Given the description of an element on the screen output the (x, y) to click on. 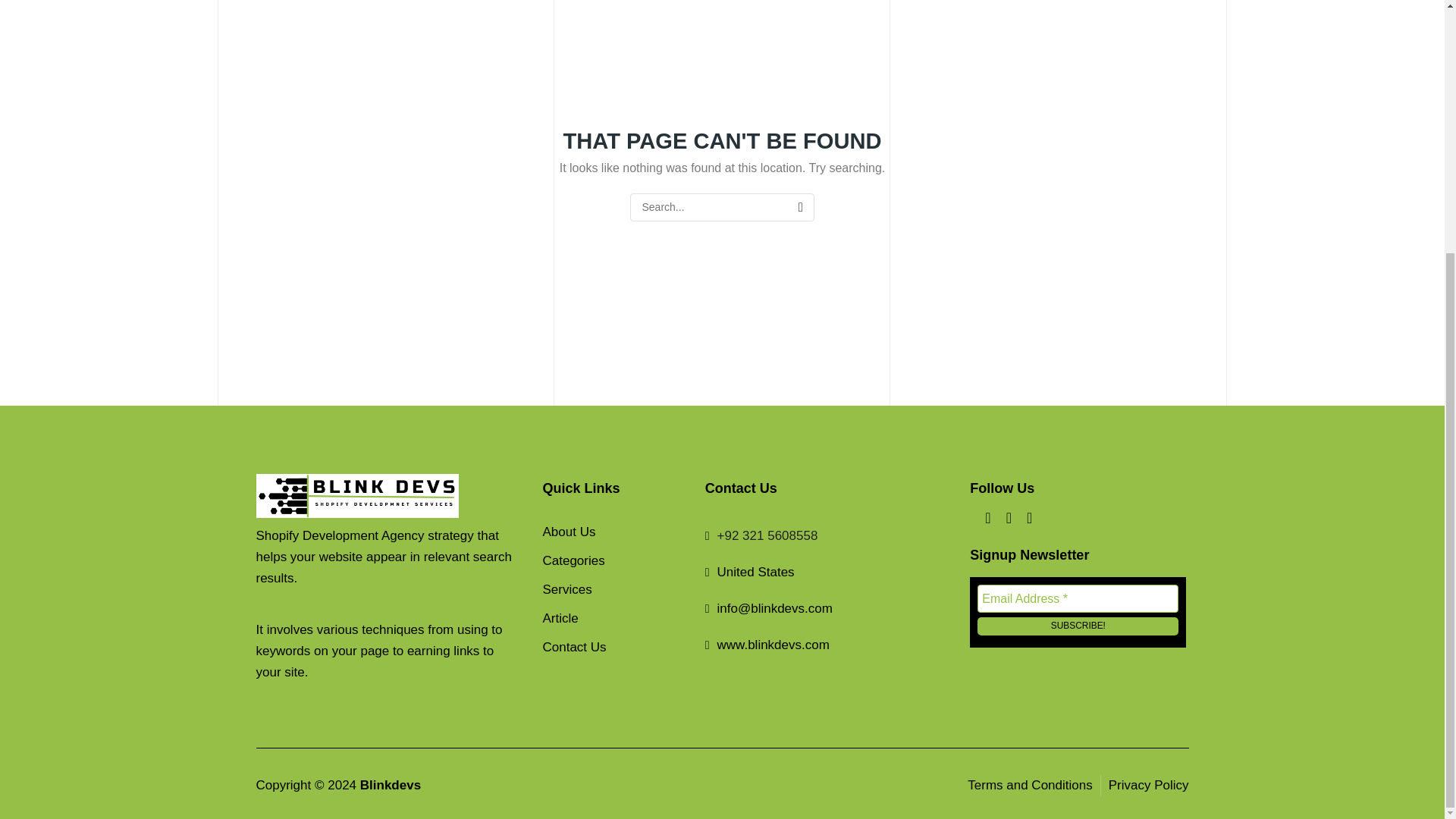
Quick Links (612, 495)
Article (612, 618)
Categories (612, 561)
Email Address (1076, 598)
Services (612, 589)
About Us  (612, 532)
About Us (612, 532)
Categories (612, 561)
Contact Us (612, 647)
Subscribe! (1076, 626)
